Given the description of an element on the screen output the (x, y) to click on. 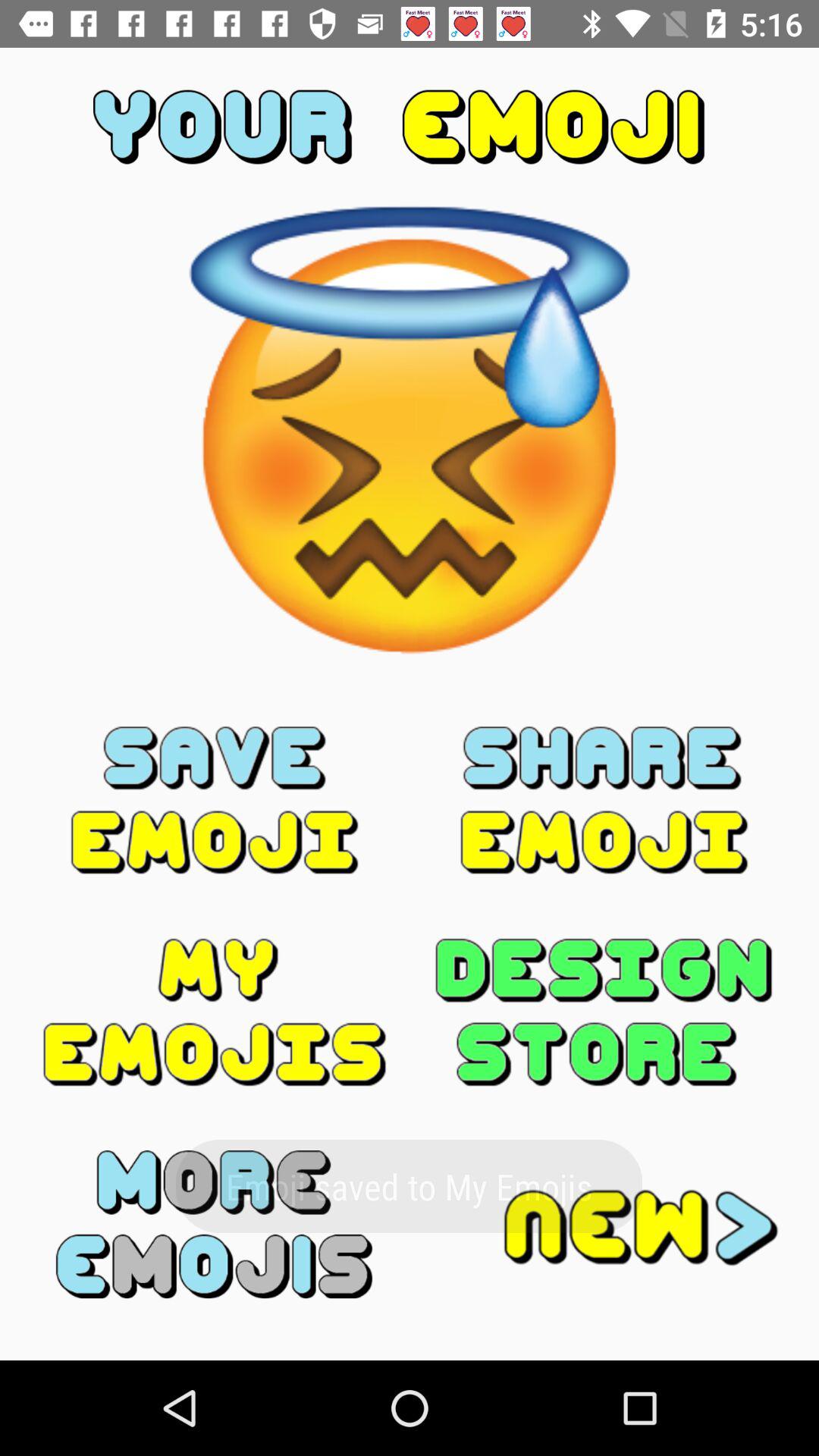
design store (604, 1012)
